Given the description of an element on the screen output the (x, y) to click on. 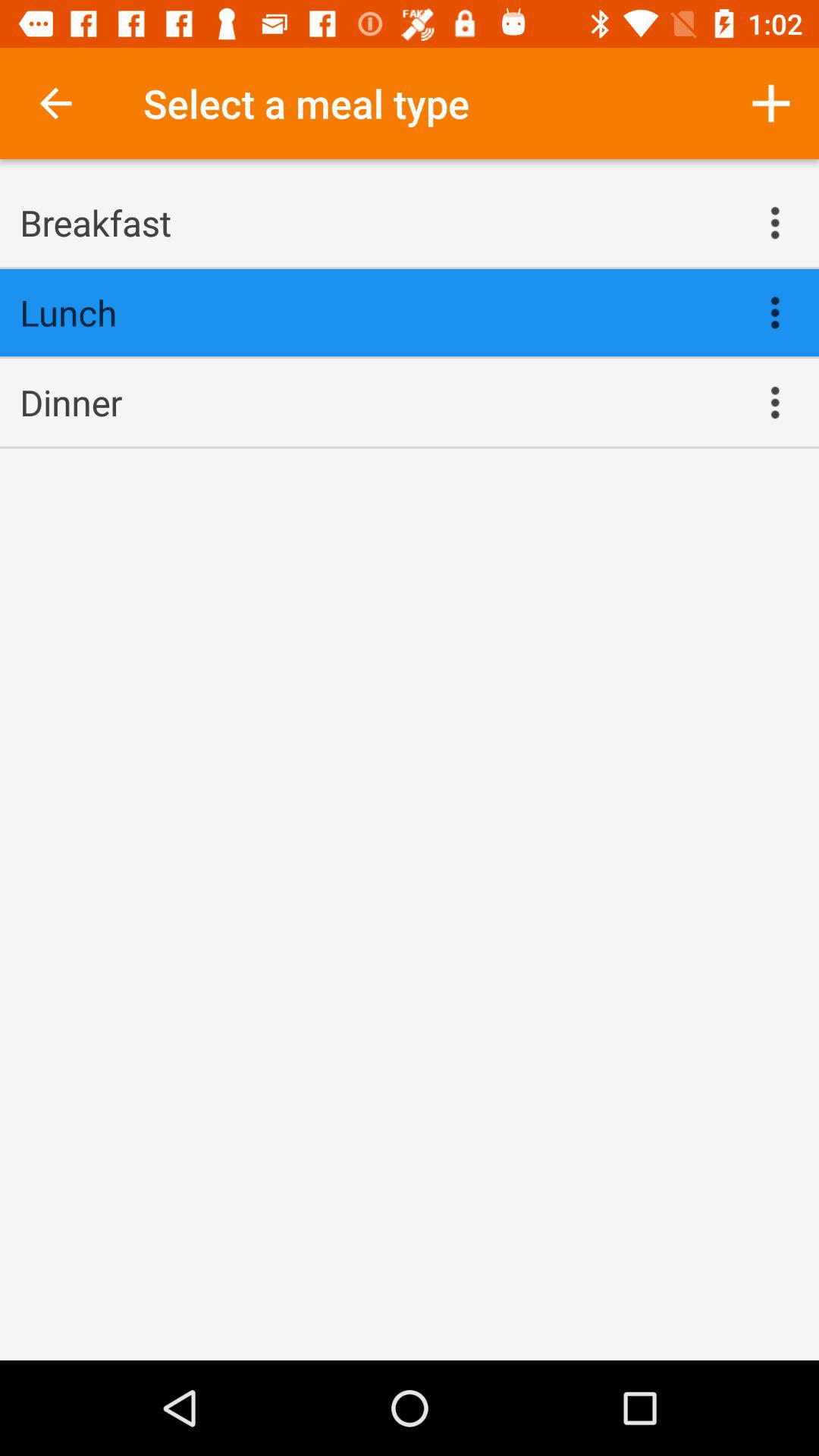
press the icon to the left of the select a meal (55, 103)
